Given the description of an element on the screen output the (x, y) to click on. 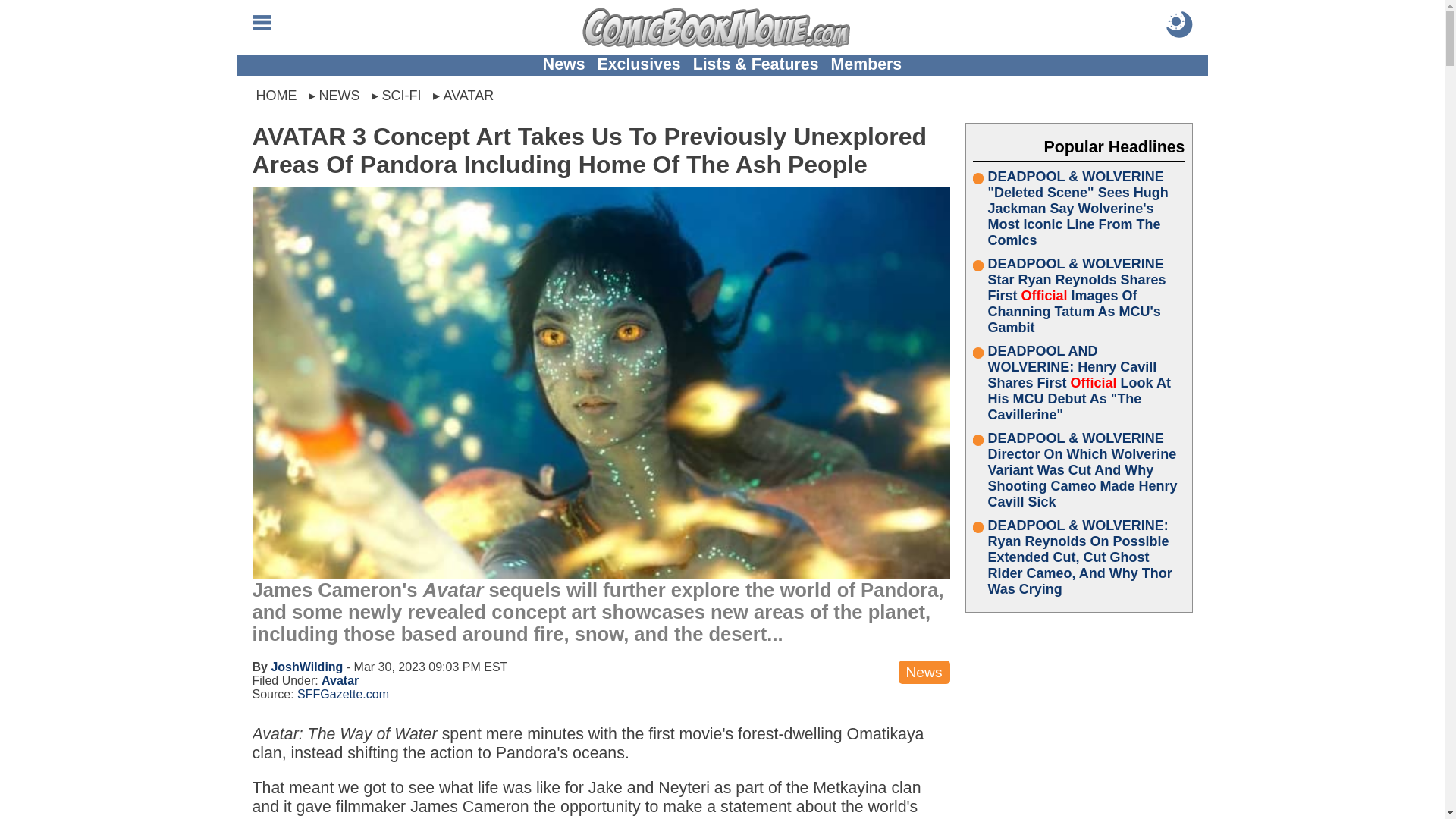
Exclusives (637, 64)
News (564, 64)
Members (866, 64)
